Given the description of an element on the screen output the (x, y) to click on. 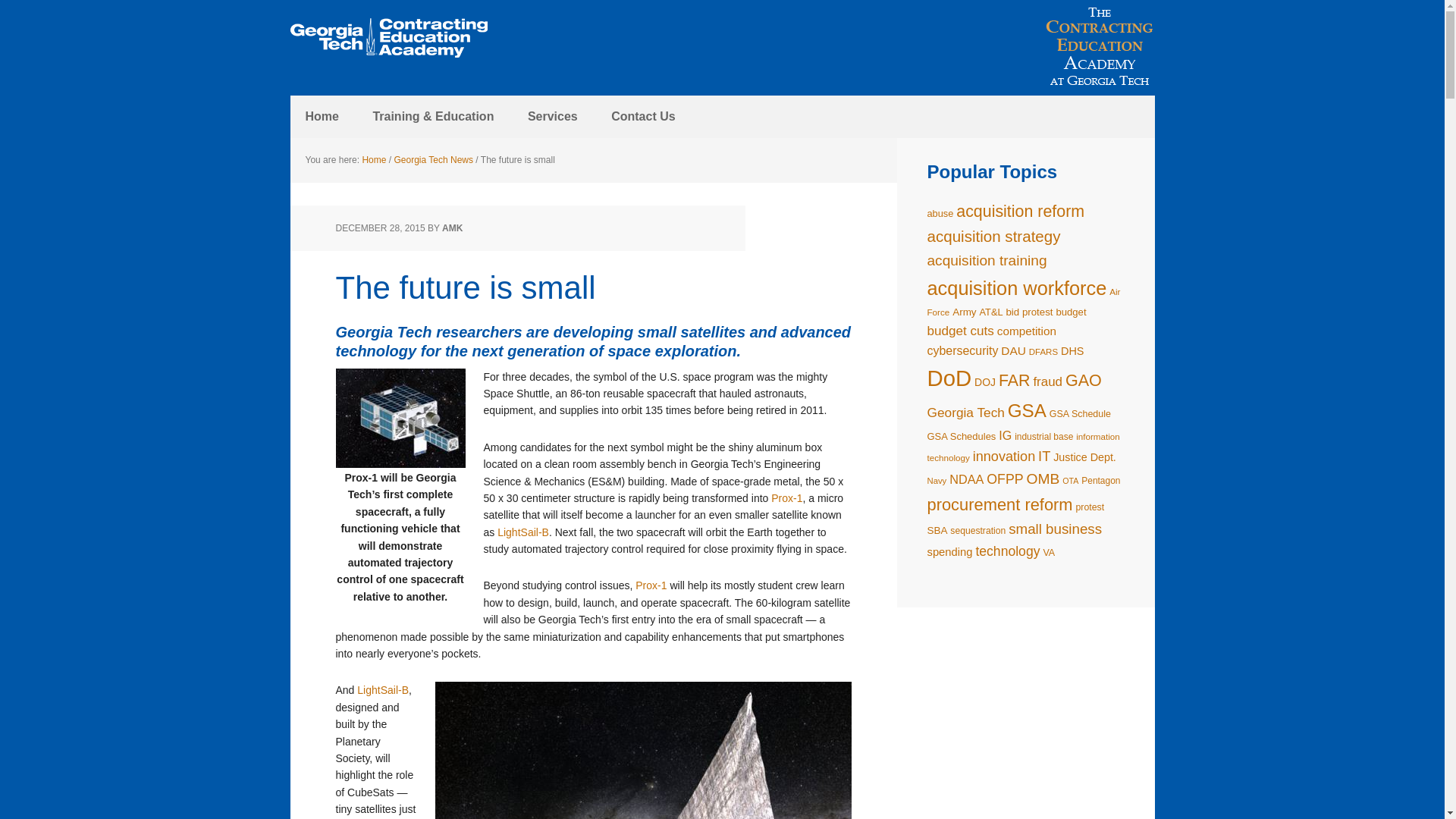
Services (552, 116)
LightSail-B (522, 532)
The Contracting Education Academy (387, 38)
Prox-1 (786, 498)
LightSail-B (382, 689)
Home (321, 116)
acquisition workforce (1016, 287)
Air Force (1022, 301)
abuse (939, 213)
acquisition training (986, 260)
acquisition strategy (992, 235)
Contact Us (642, 116)
acquisition reform (1020, 211)
AMK (452, 227)
Prox-1 (650, 585)
